Given the description of an element on the screen output the (x, y) to click on. 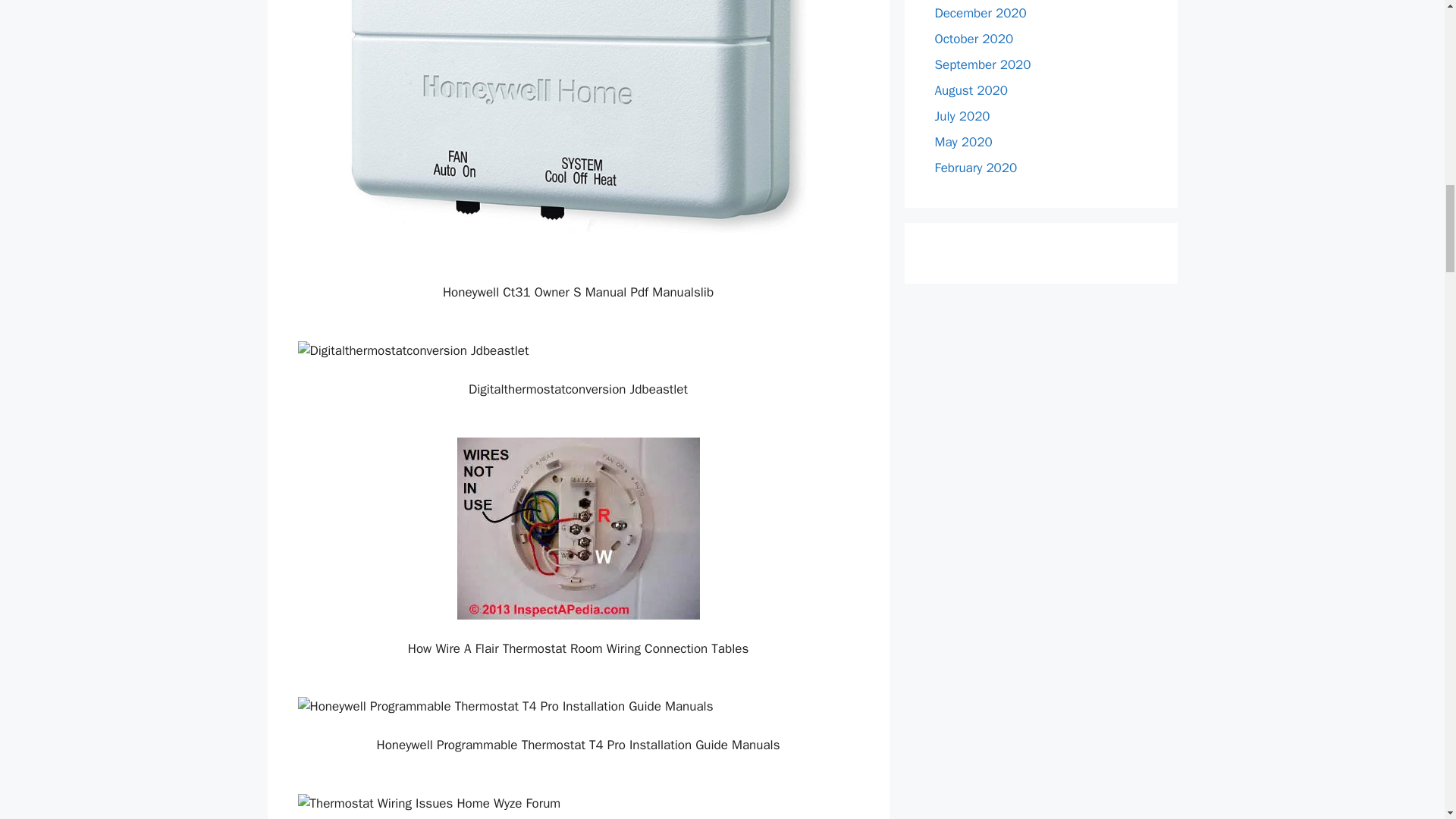
Thermostat Wiring Issues Home Wyze Forum (578, 803)
How Wire A Flair Thermostat Room Wiring Connection Tables (577, 528)
Digitalthermostatconversion Jdbeastlet (578, 351)
